Given the description of an element on the screen output the (x, y) to click on. 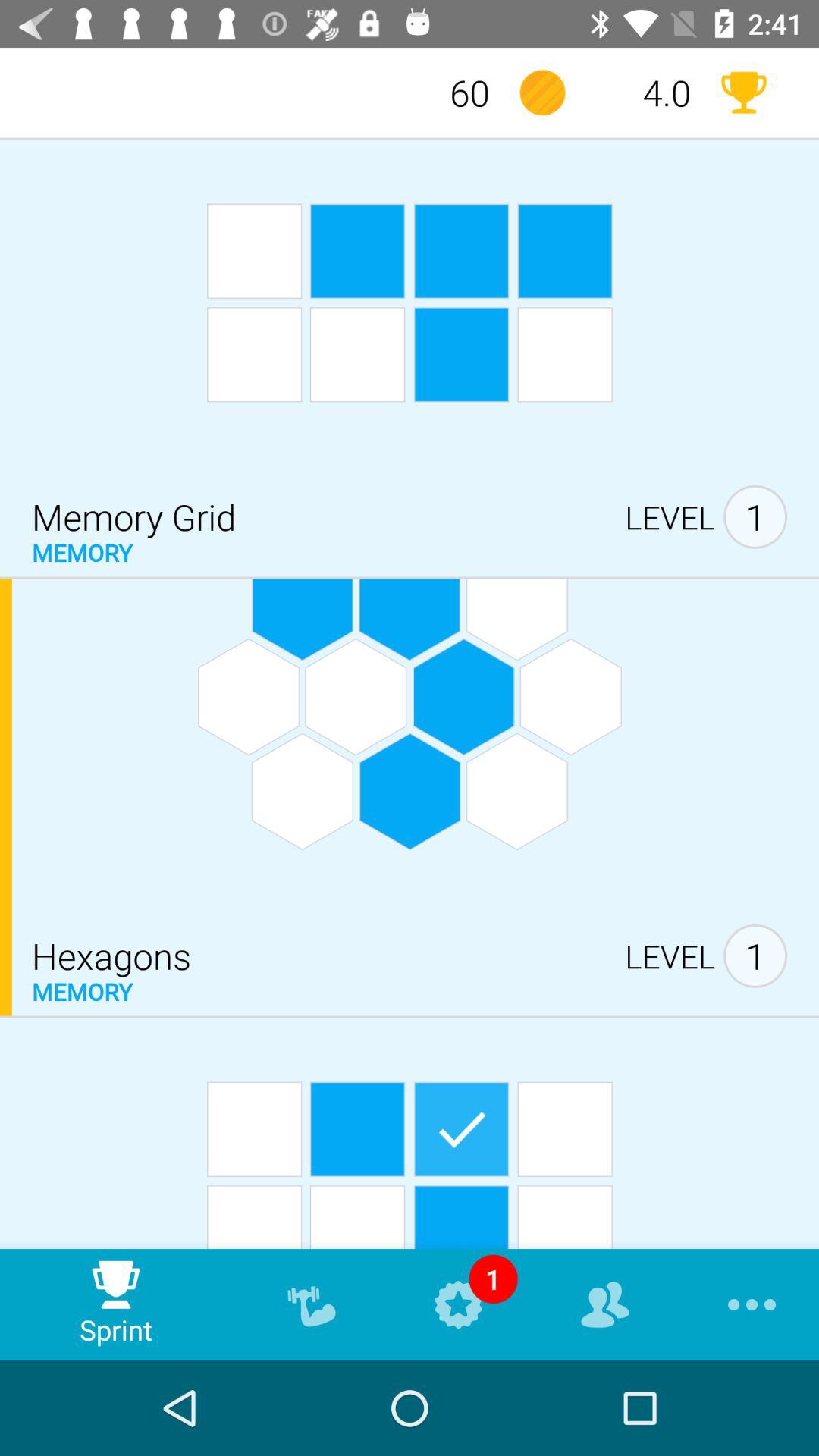
open icon next to the 4.0 item (542, 92)
